Given the description of an element on the screen output the (x, y) to click on. 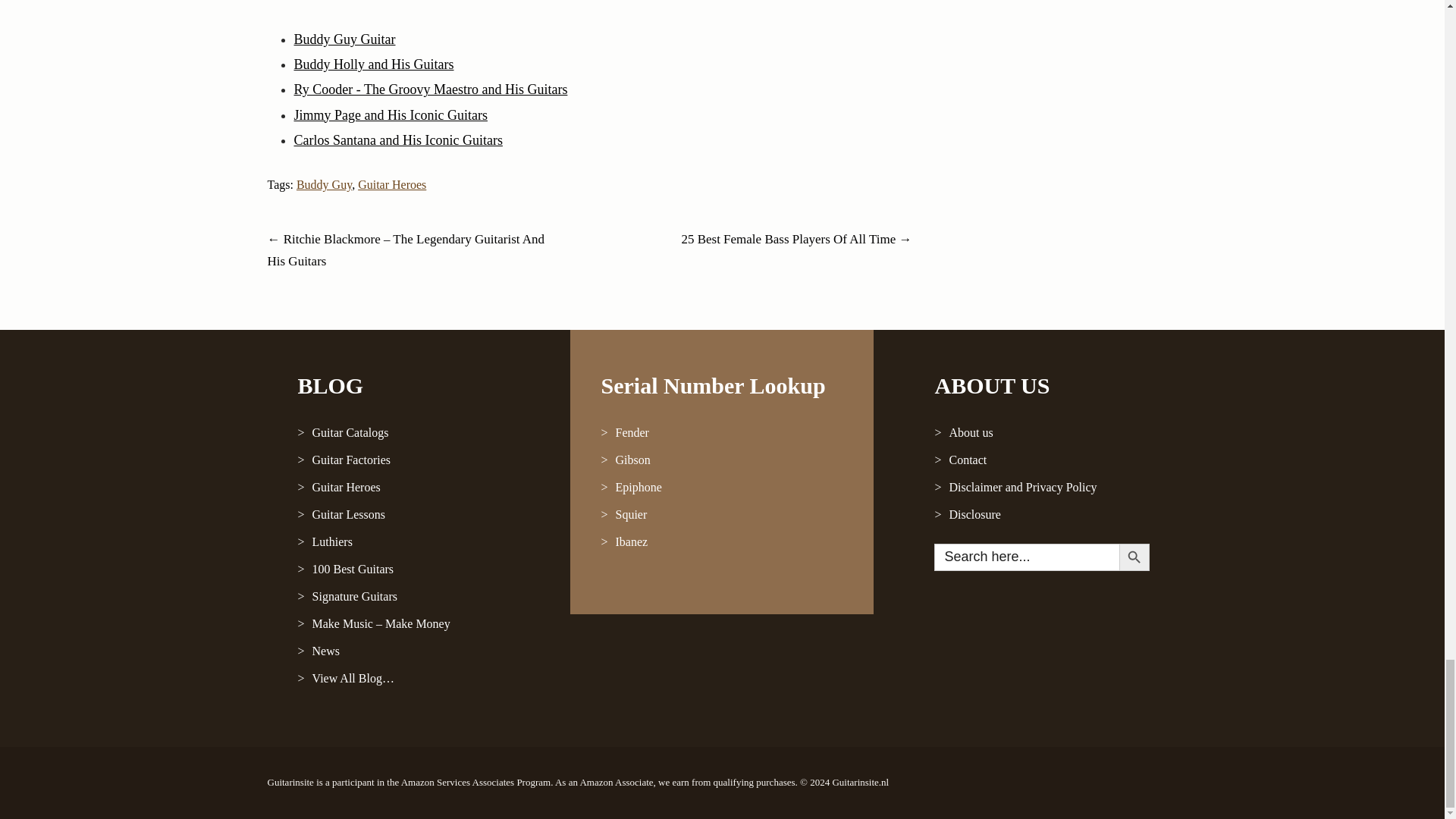
Guitar Lessons (418, 514)
Guitar Factories (418, 460)
100 Best Guitars (418, 569)
Guitar Catalogs (418, 432)
Buddy Holly and His Guitars (374, 64)
Jimmy Page and His Iconic Guitars (390, 114)
Buddy Guy Guitar (345, 38)
Carlos Santana and His Iconic Guitars (398, 140)
Buddy Guy (324, 184)
Guitar Heroes (418, 487)
